Given the description of an element on the screen output the (x, y) to click on. 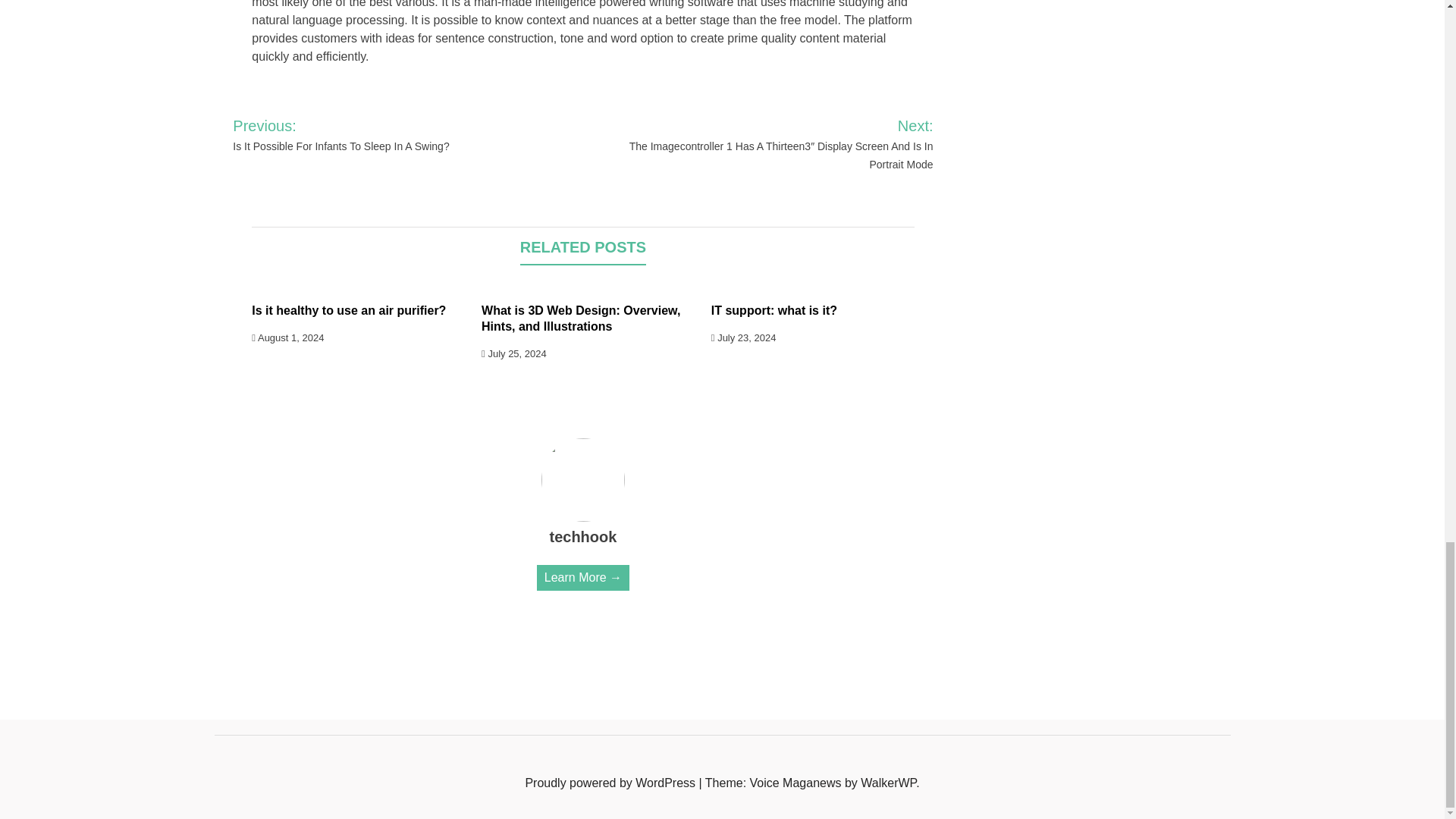
Is it healthy to use an air purifier? (348, 309)
July 25, 2024 (514, 353)
July 23, 2024 (743, 337)
August 1, 2024 (287, 337)
IT support: what is it? (774, 309)
Previous: Is It Possible For Infants To Sleep In A Swing? (373, 134)
What is 3D Web Design: Overview, Hints, and Illustrations (580, 317)
